Given the description of an element on the screen output the (x, y) to click on. 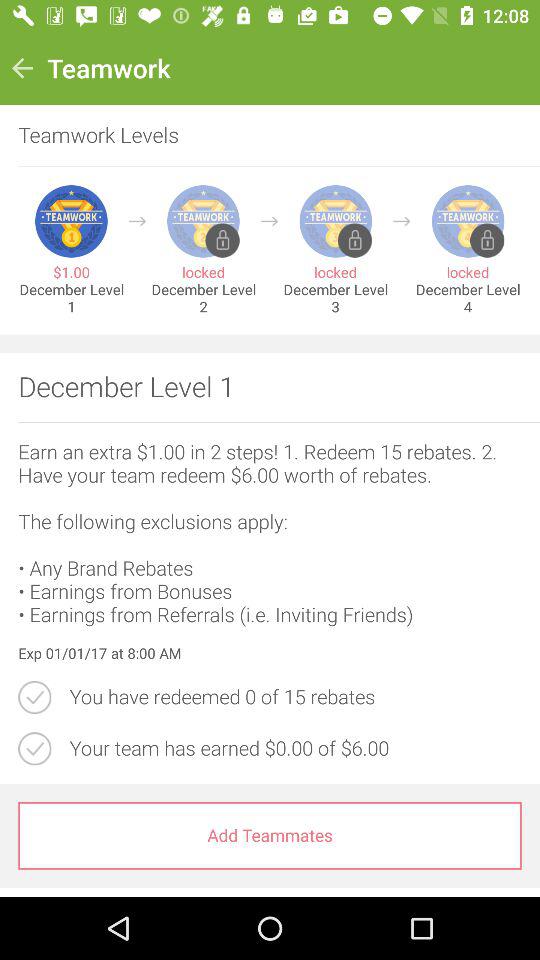
launch exp 01 01 icon (269, 653)
